Given the description of an element on the screen output the (x, y) to click on. 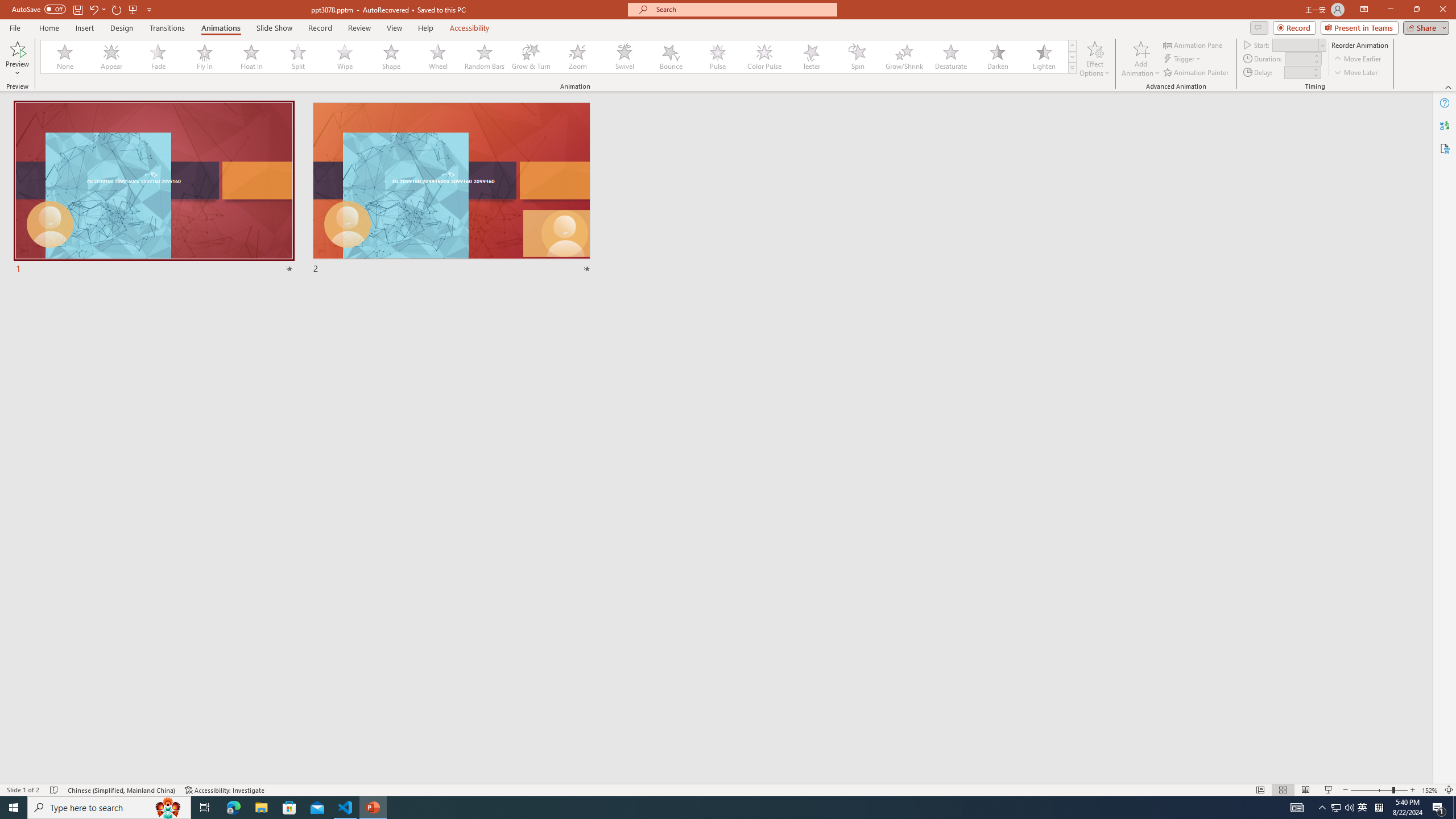
Zoom 152% (1430, 790)
